Given the description of an element on the screen output the (x, y) to click on. 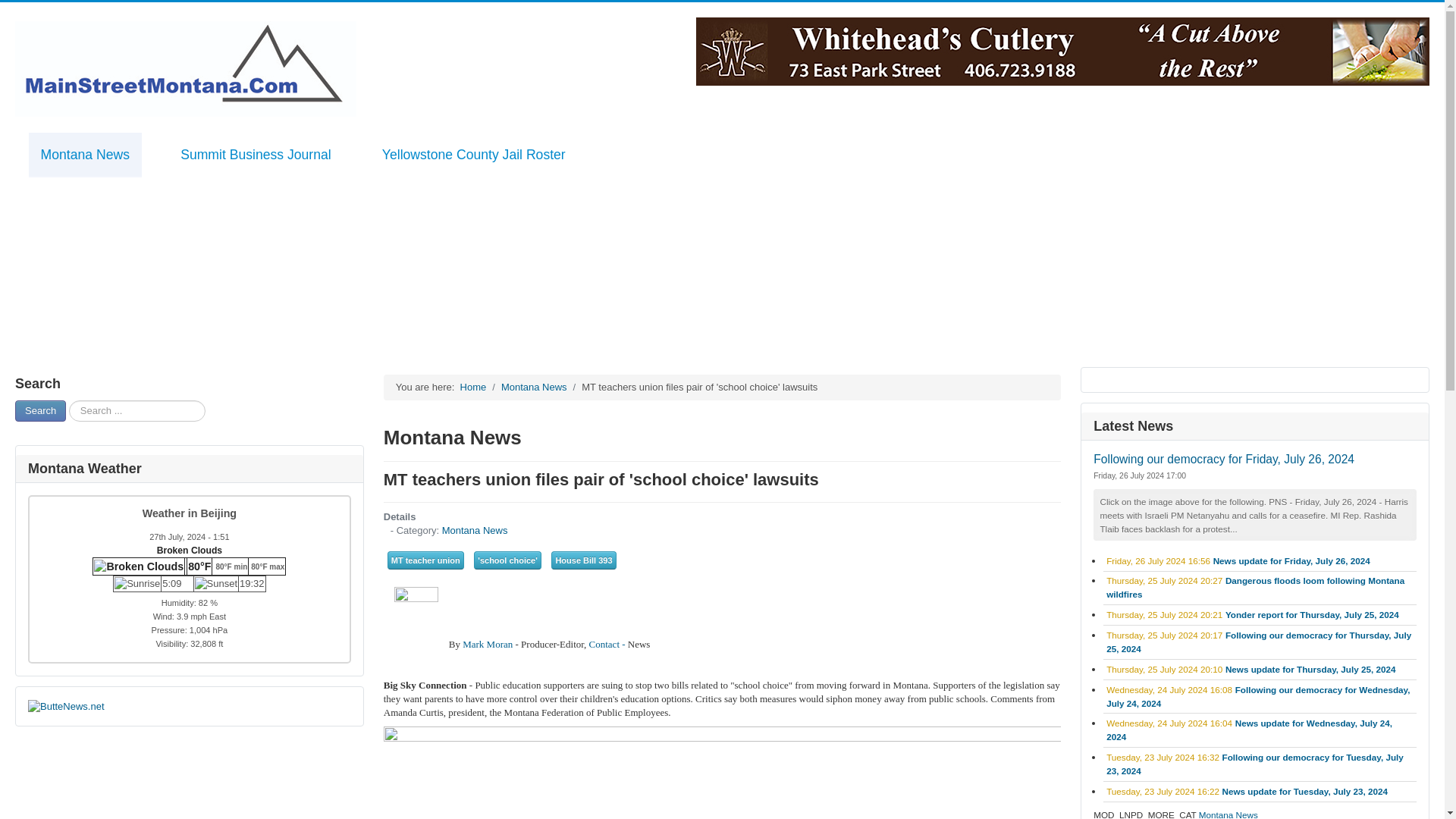
Home (473, 387)
MT teacher union (425, 560)
Montana News (533, 387)
House Bill 393 (583, 560)
Summit Business Journal (255, 154)
Whitehead's (1062, 50)
Broken Clouds (138, 566)
Yellowstone County Jail Roster (473, 154)
Search (39, 410)
Sunrise (137, 583)
Broken Clouds (185, 565)
Sunset (216, 583)
'school choice' (507, 560)
Contact -  (608, 644)
Montana News (85, 154)
